Given the description of an element on the screen output the (x, y) to click on. 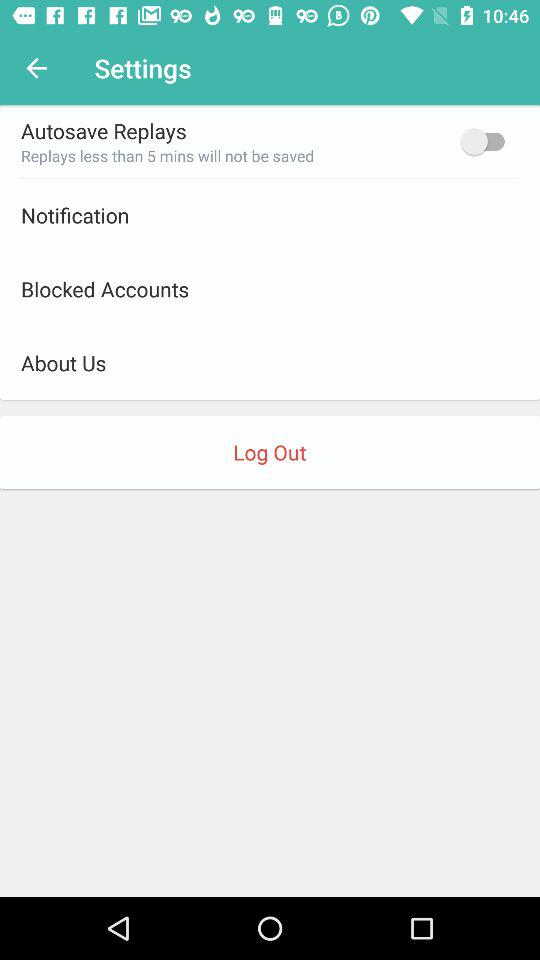
tap the item next to replays less than (487, 141)
